Given the description of an element on the screen output the (x, y) to click on. 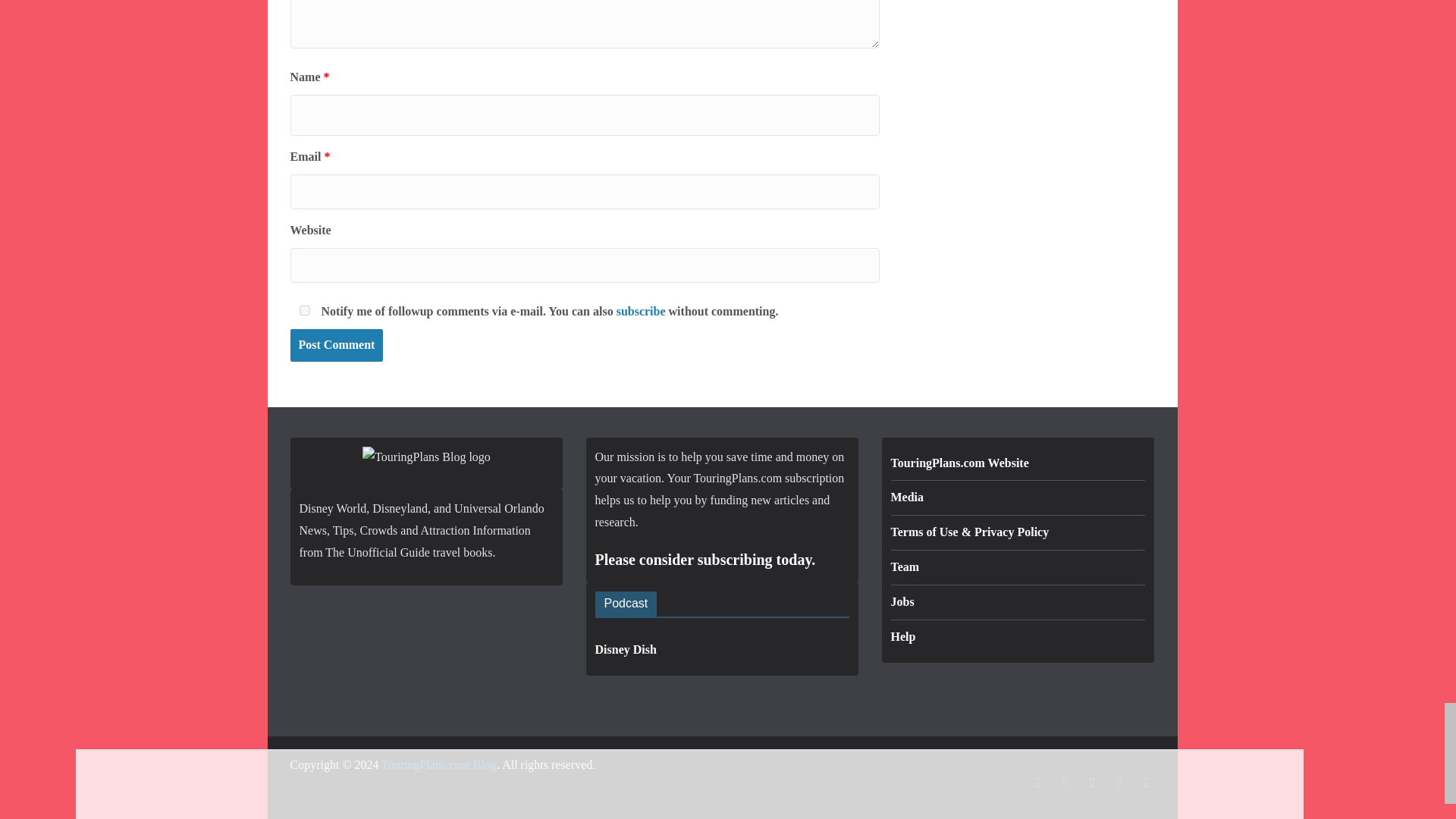
TouringPlans.com Blog (438, 764)
Post Comment (335, 345)
yes (303, 310)
